Given the description of an element on the screen output the (x, y) to click on. 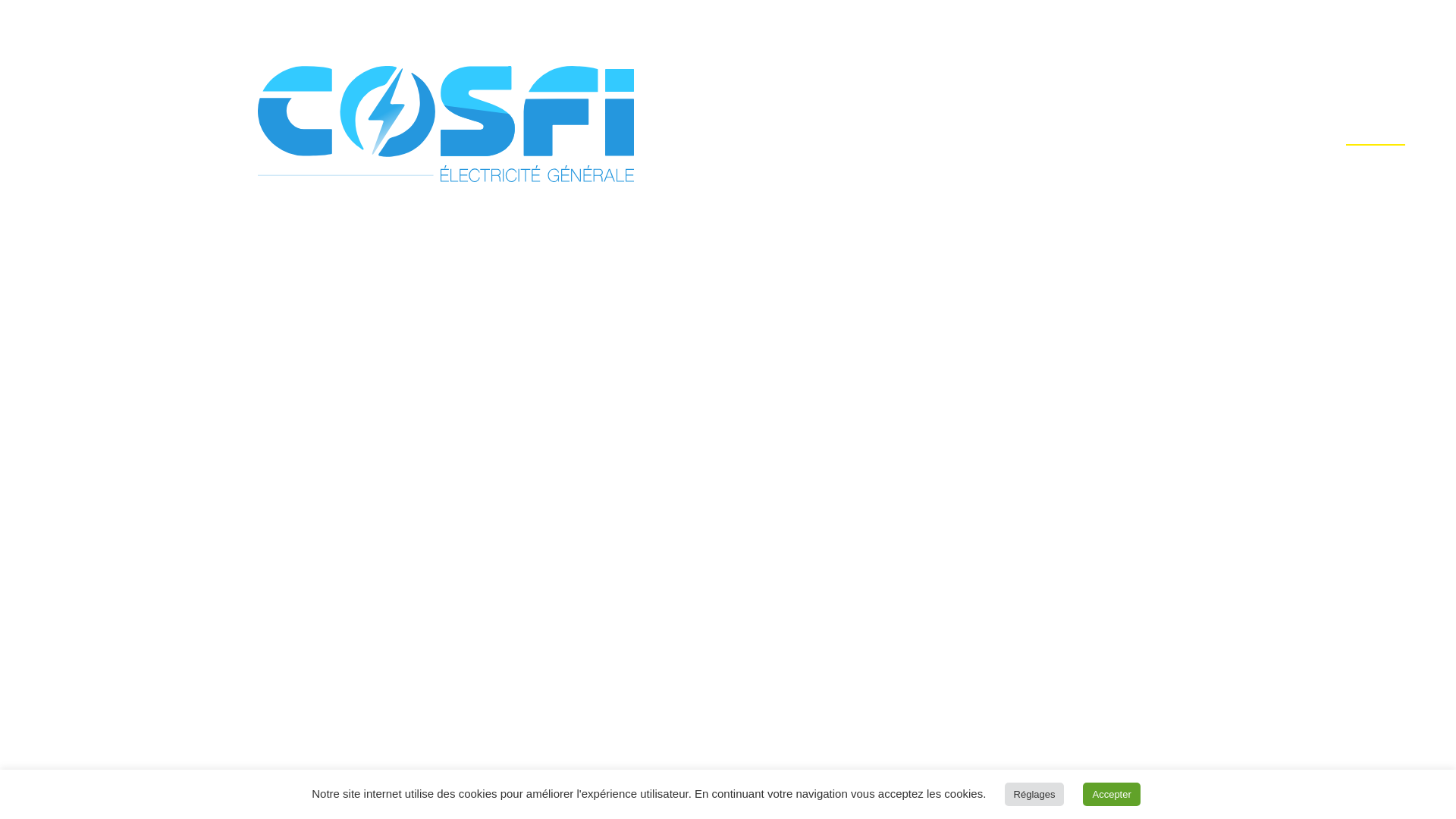
SERVICES Element type: text (1257, 201)
ACCUEIL Element type: text (1257, 127)
CONTACT Element type: text (1257, 421)
DEVIS EN LIGNE Element type: text (1257, 347)
Accepter Element type: text (1110, 794)
